Given the description of an element on the screen output the (x, y) to click on. 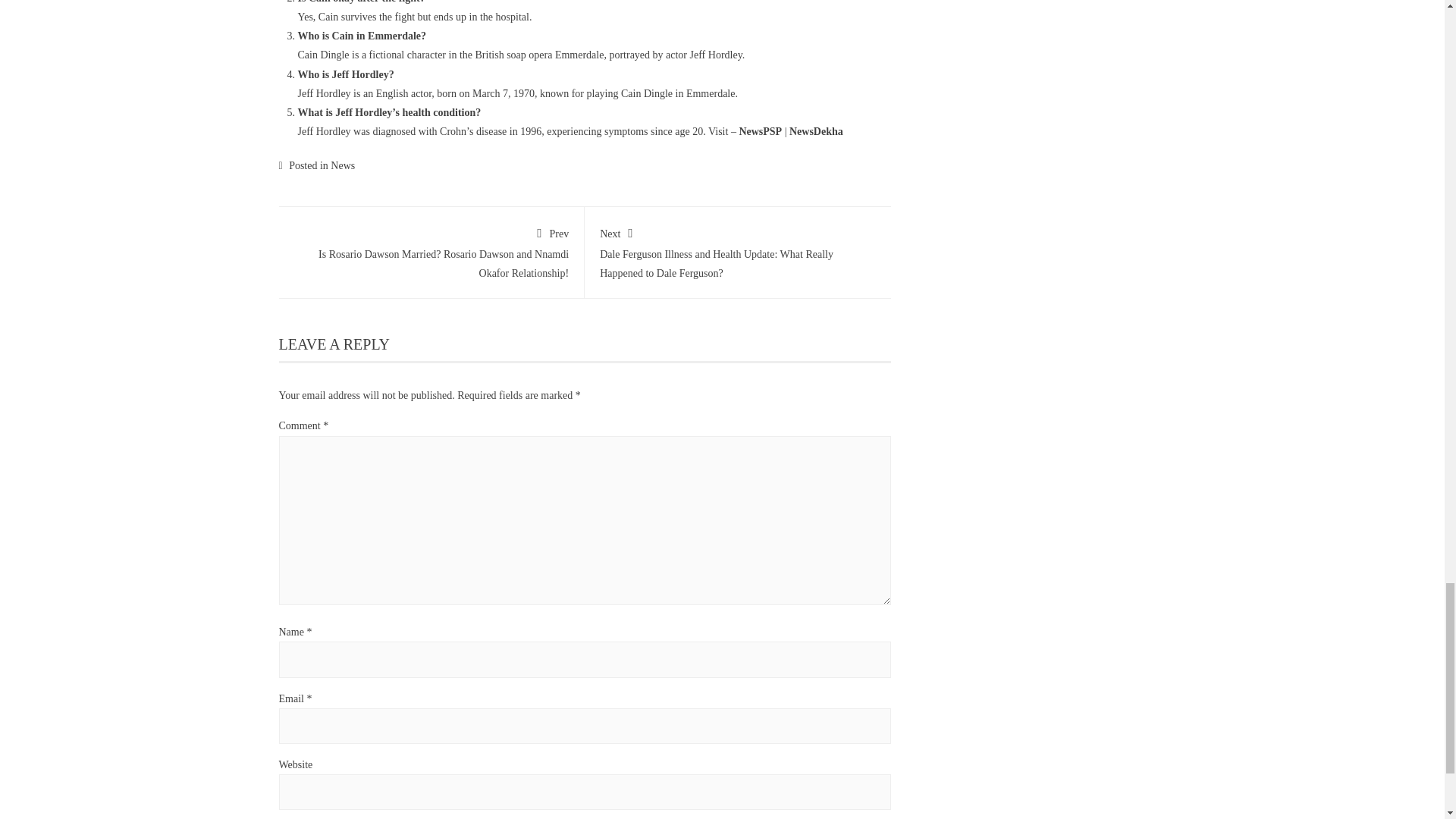
NewsDekha (816, 131)
NewsPSP (759, 131)
News (342, 165)
